Given the description of an element on the screen output the (x, y) to click on. 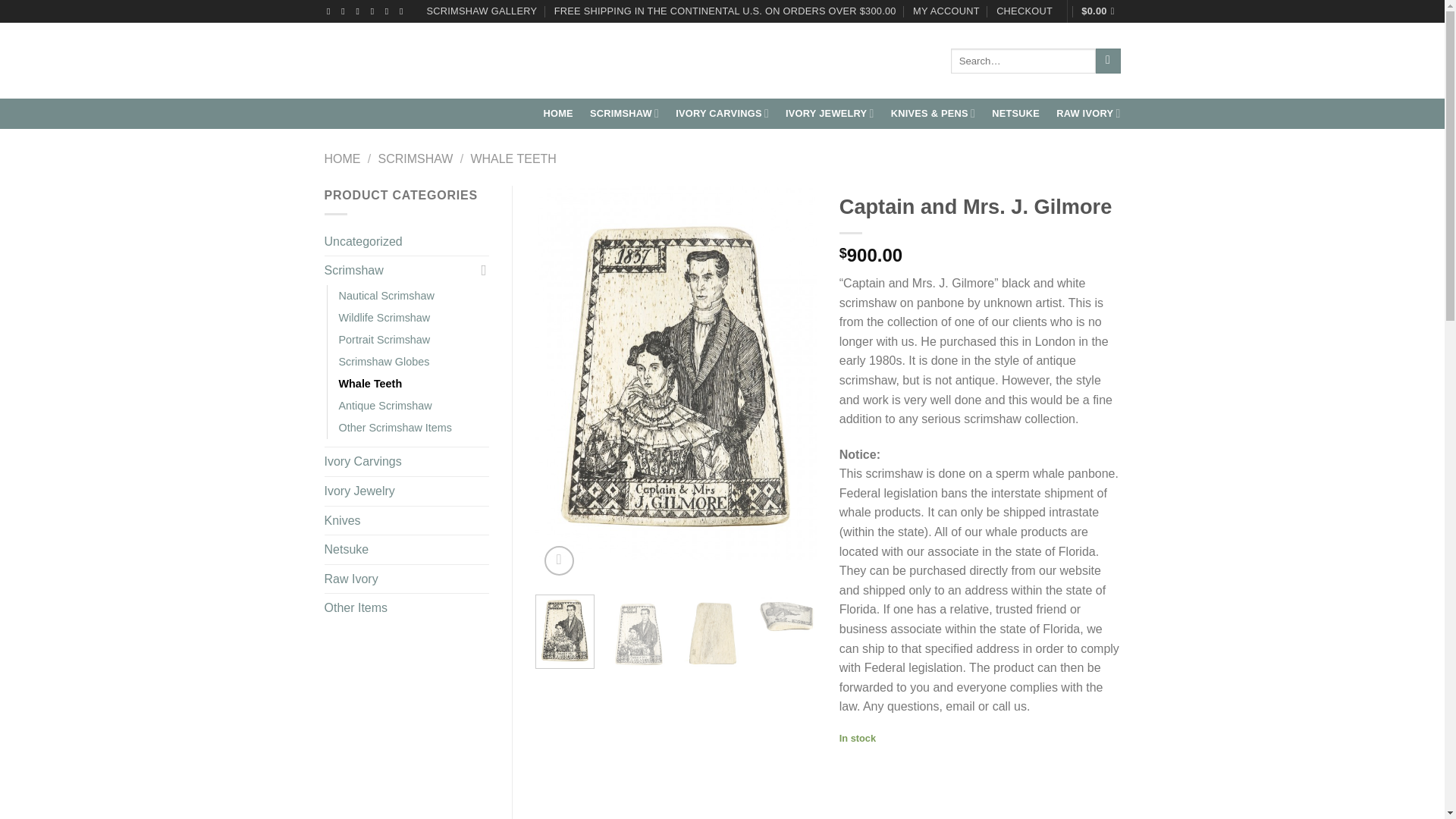
Scrimshaw (624, 112)
Scrimshaw Collector - One of a Kind Nautical Art (430, 61)
SCRIMSHAW GALLERY (481, 11)
IVORY CARVINGS (721, 112)
Cart (1100, 11)
IVORY JEWELRY (830, 112)
MY ACCOUNT (945, 11)
Scrimshaw Gallery (481, 11)
Search (1108, 61)
HOME (557, 113)
CHECKOUT (1023, 11)
SCRIMSHAW (624, 112)
